Given the description of an element on the screen output the (x, y) to click on. 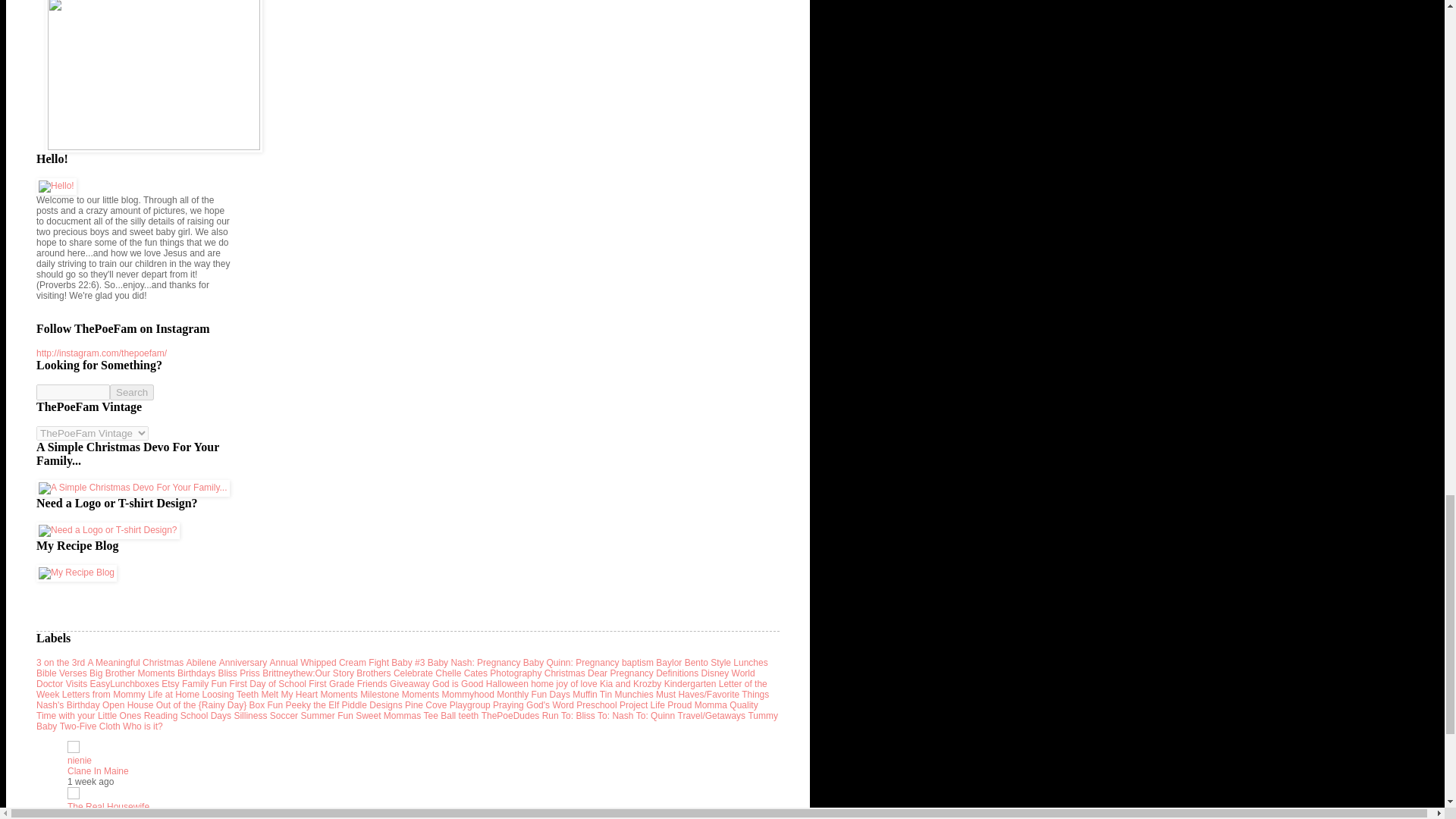
Search (132, 392)
Search (132, 392)
Search (132, 392)
Anniversary (242, 662)
Annual Whipped Cream Fight (328, 662)
Abilene (200, 662)
3 on the 3rd (60, 662)
A Meaningful Christmas (135, 662)
